Given the description of an element on the screen output the (x, y) to click on. 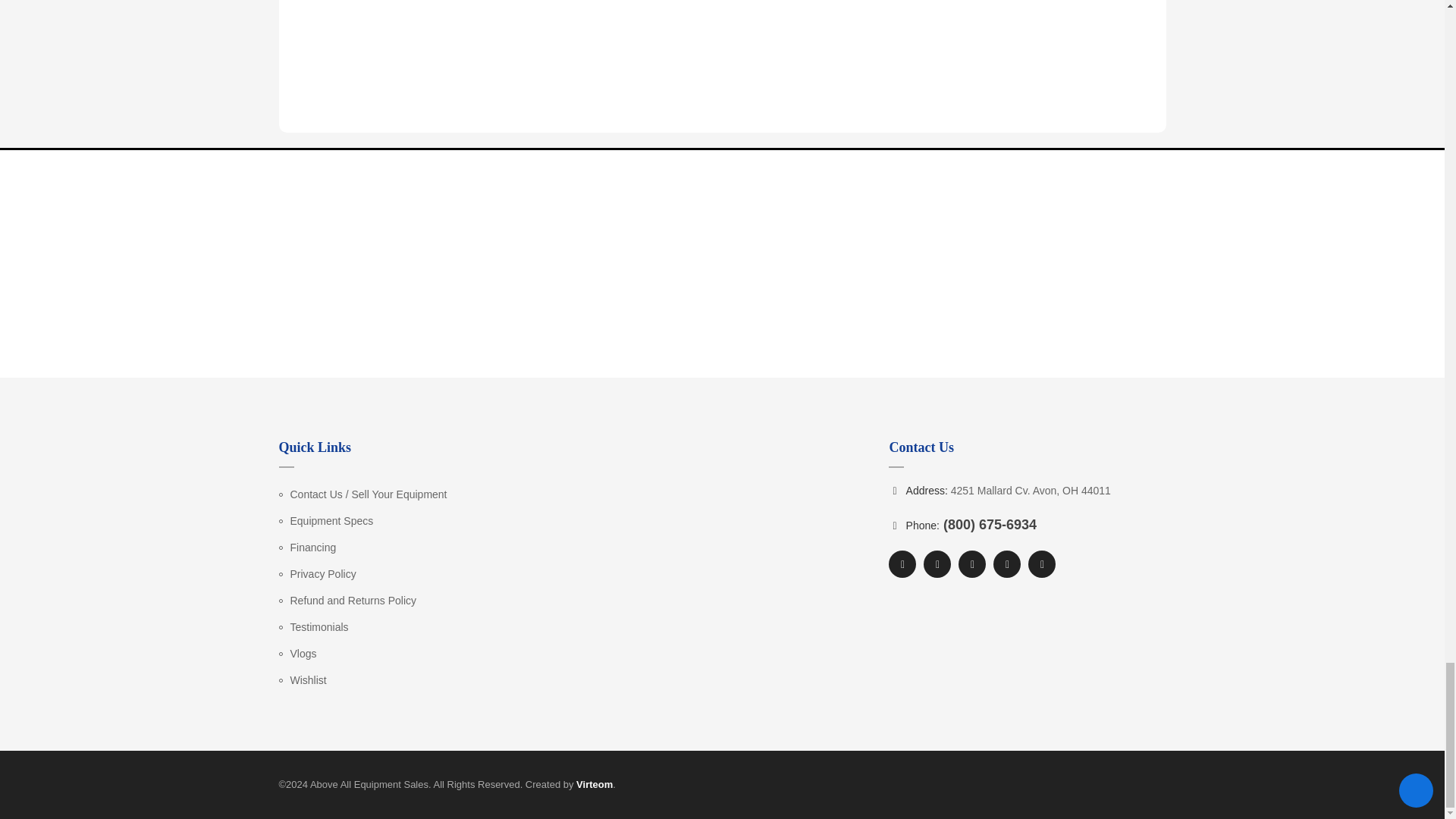
2024 Genie GTH 55-19 (344, 136)
